Given the description of an element on the screen output the (x, y) to click on. 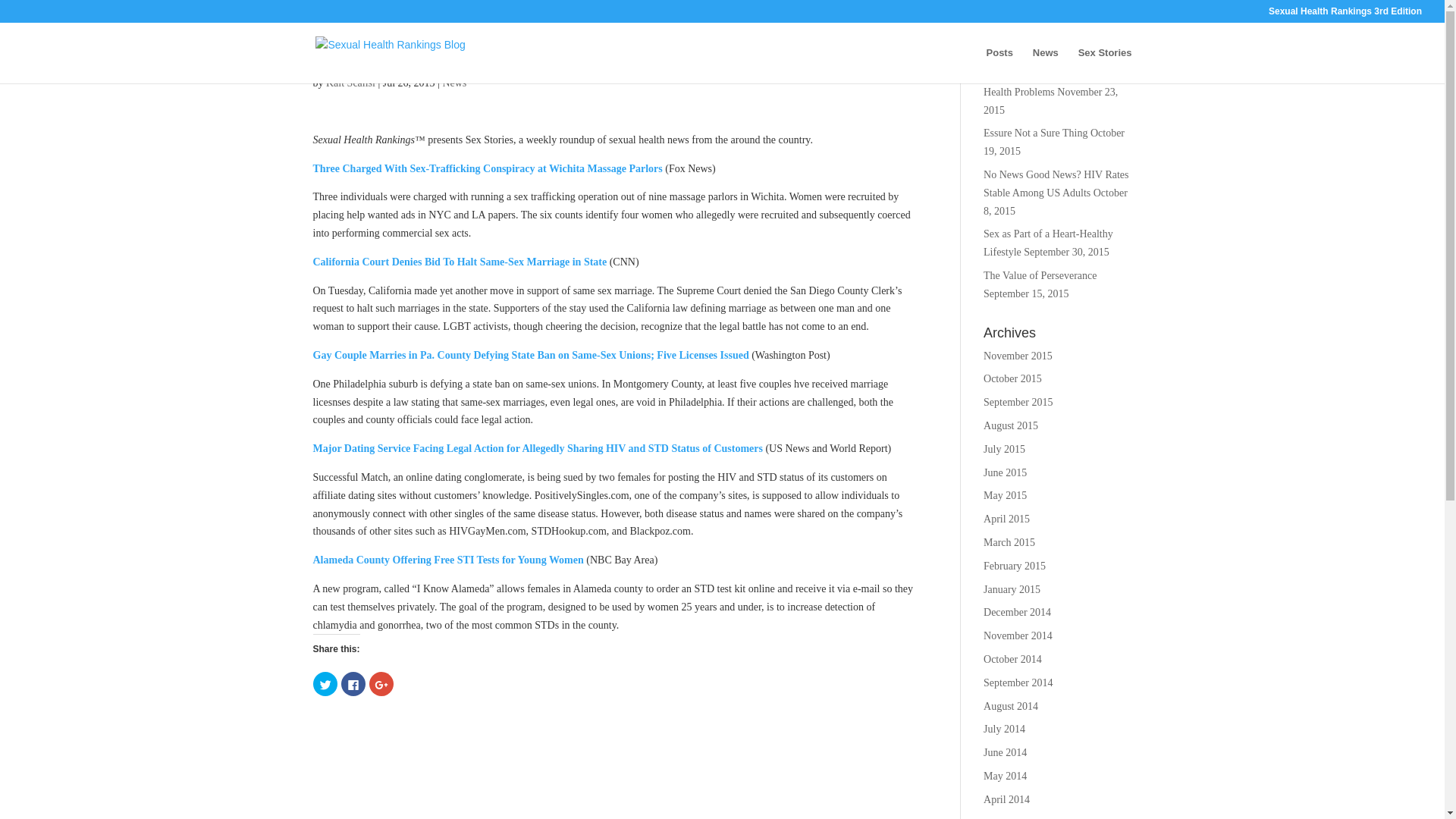
September 2014 (1018, 682)
January 2015 (1012, 589)
May 2015 (1005, 495)
Click to share on Facebook (352, 683)
No News Good News? HIV Rates Stable Among US Adults (1056, 183)
February 2015 (1014, 565)
Click to share on Twitter (324, 683)
